Given the description of an element on the screen output the (x, y) to click on. 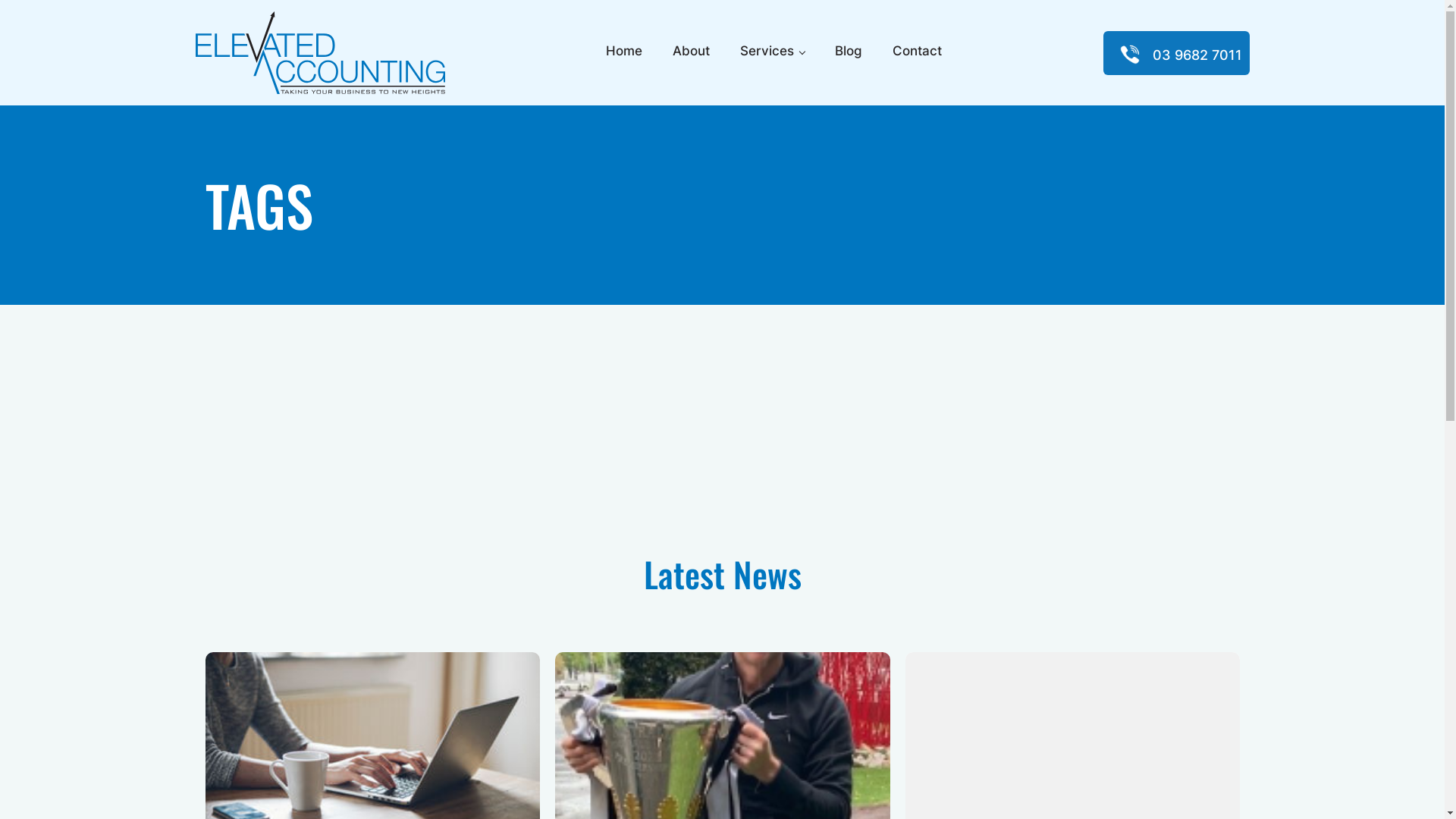
Blog Element type: text (848, 52)
03 9682 7011 Element type: text (1197, 54)
Contact Element type: text (916, 52)
Services Element type: text (772, 52)
Home Element type: text (623, 52)
About Element type: text (690, 52)
